Given the description of an element on the screen output the (x, y) to click on. 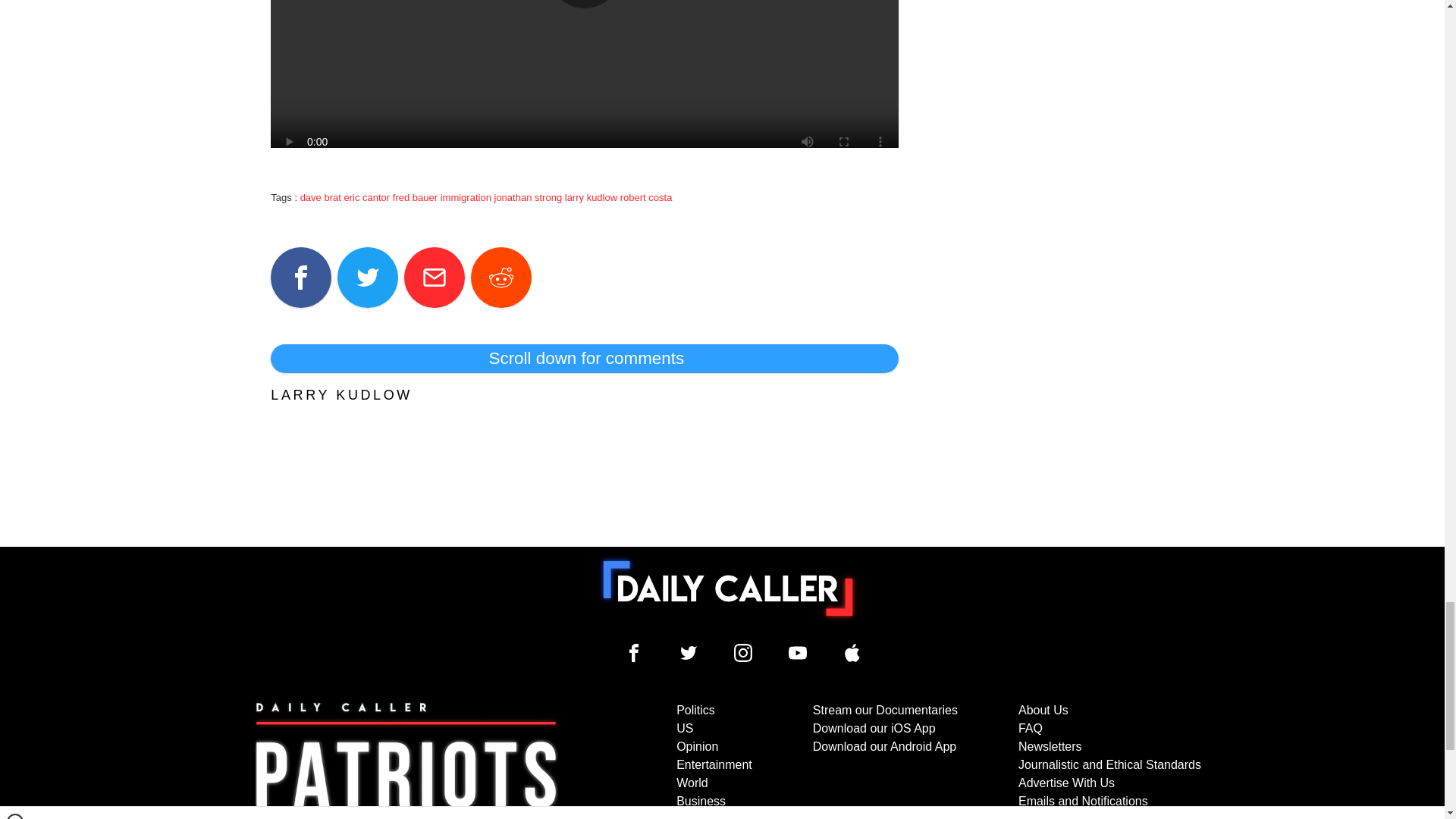
To home page (727, 588)
Scroll down for comments (584, 358)
Play Video (584, 4)
Play Video (584, 4)
